Given the description of an element on the screen output the (x, y) to click on. 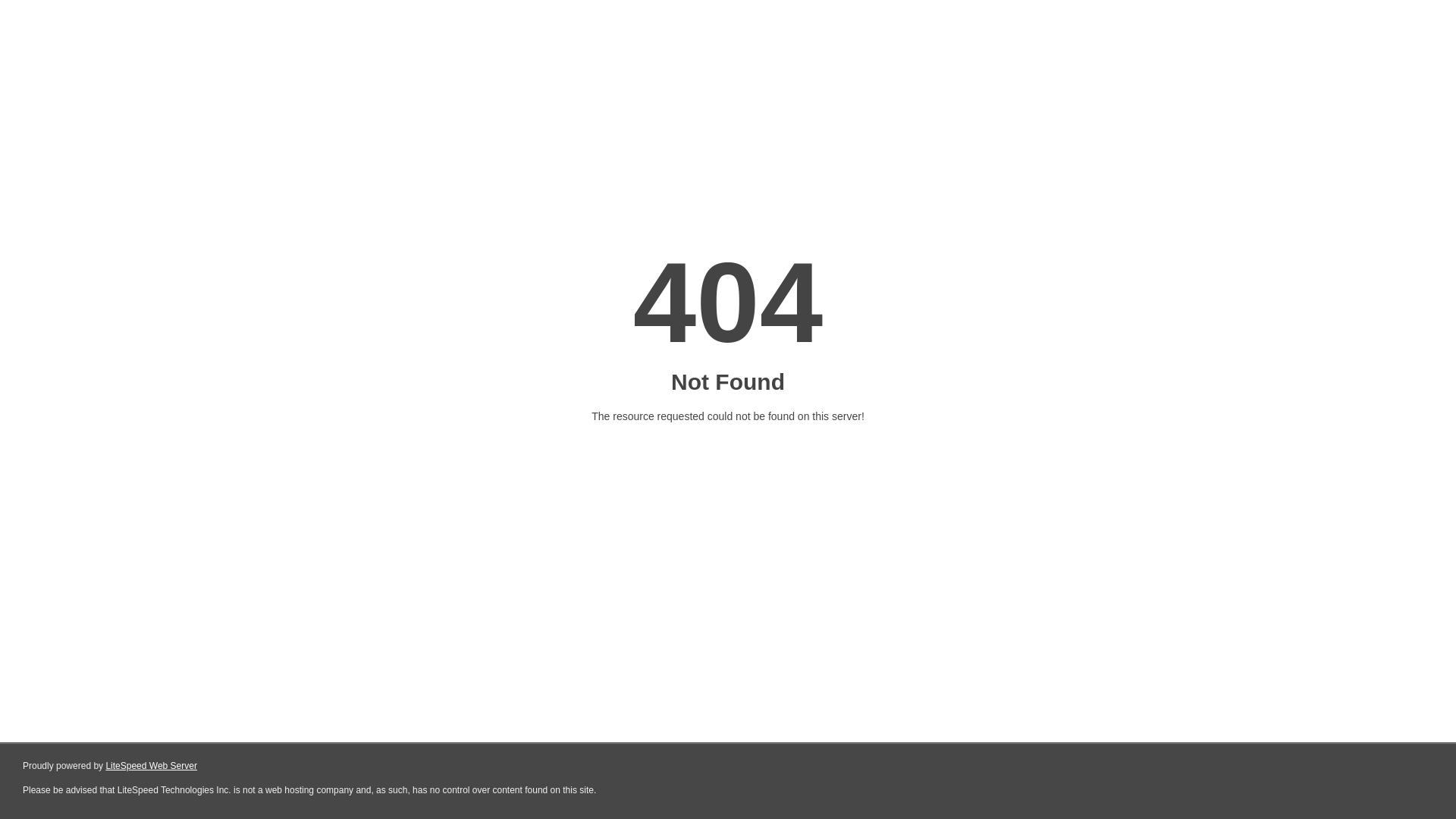
LiteSpeed Web Server Element type: text (151, 765)
